Given the description of an element on the screen output the (x, y) to click on. 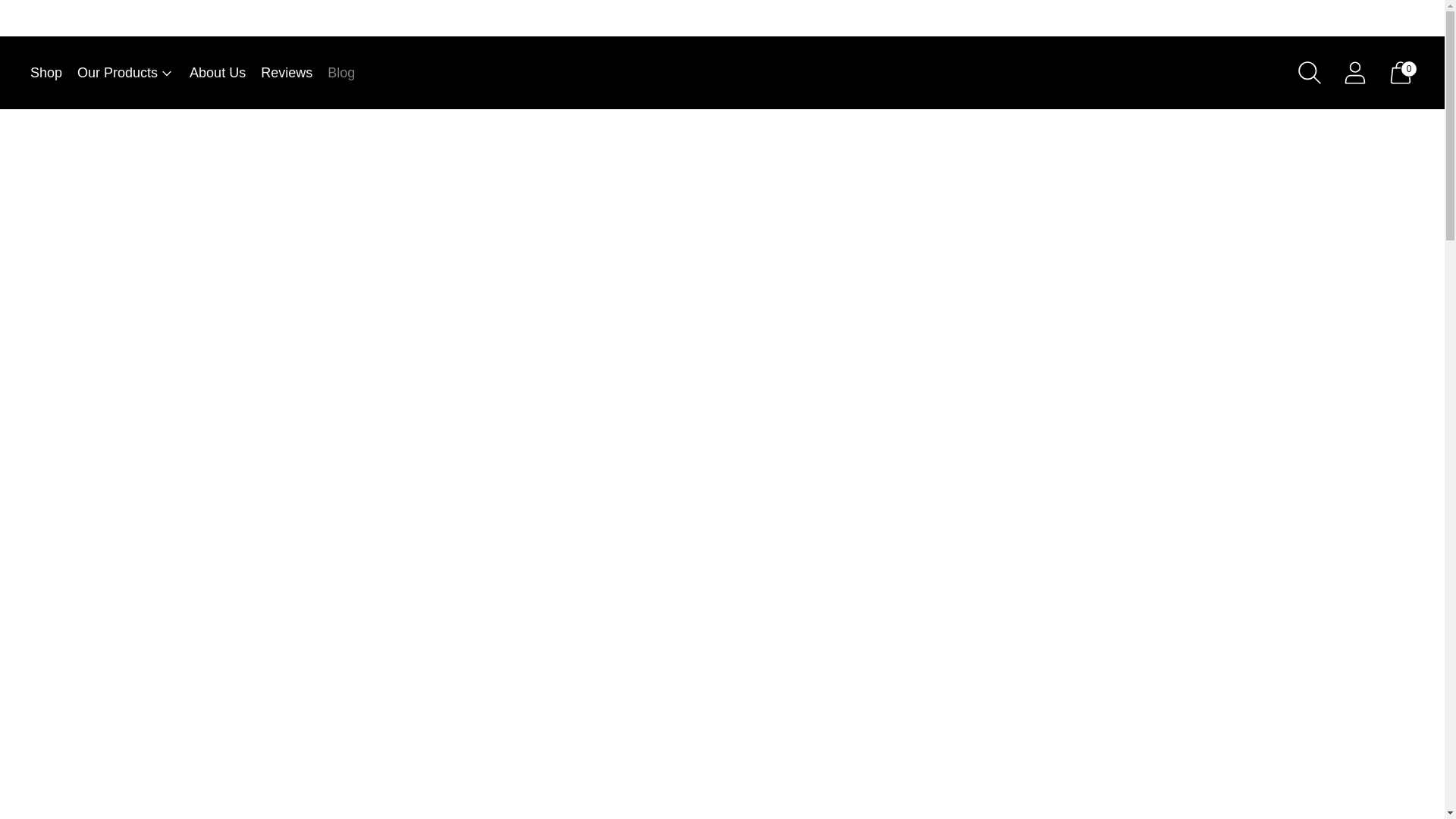
Shop (46, 72)
0 (1400, 72)
Reviews (286, 72)
About Us (217, 72)
Our Products (125, 72)
